Given the description of an element on the screen output the (x, y) to click on. 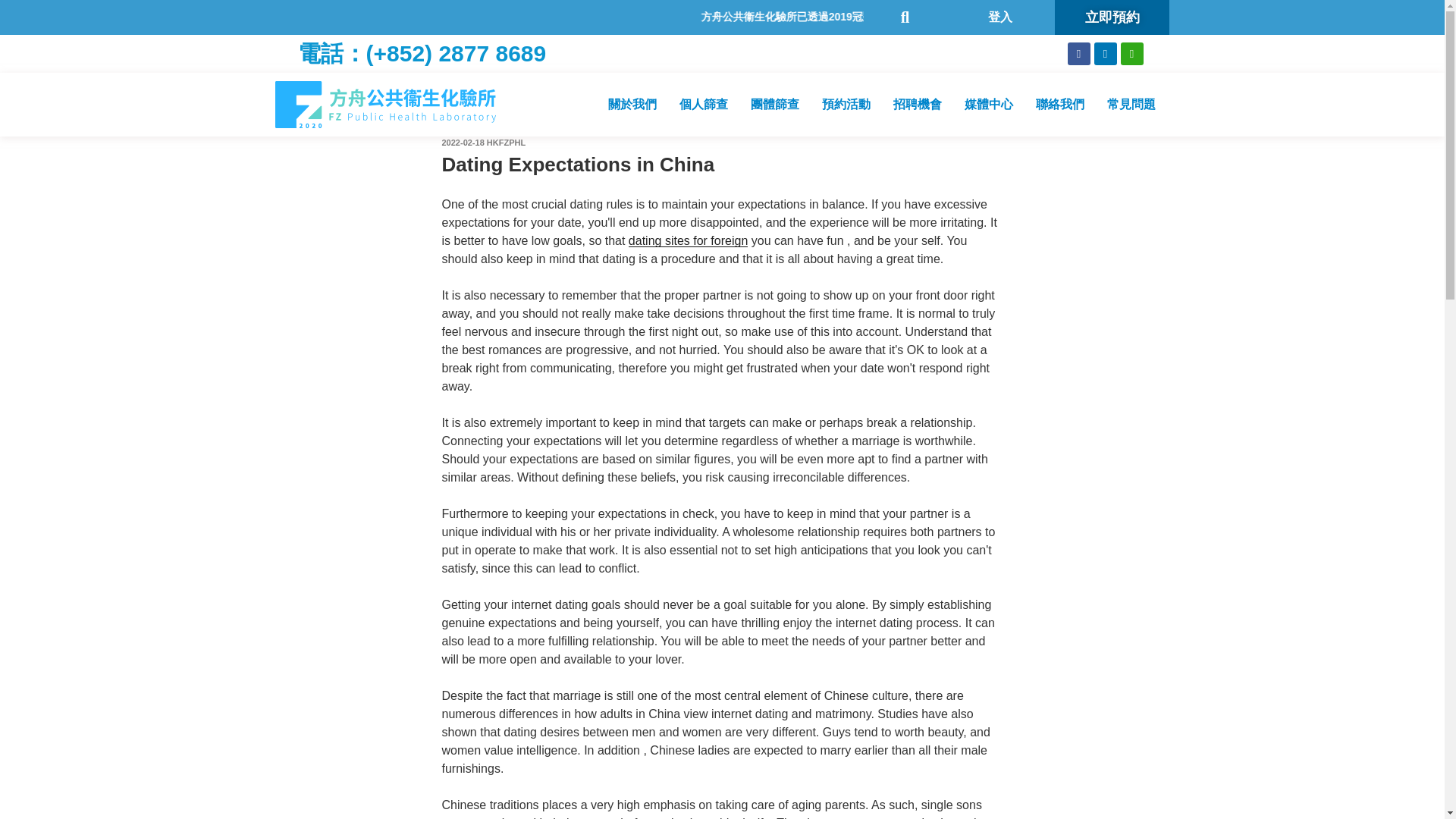
2022-02-18 (462, 142)
HKFZPHL (505, 142)
dating sites for foreign (688, 240)
